Given the description of an element on the screen output the (x, y) to click on. 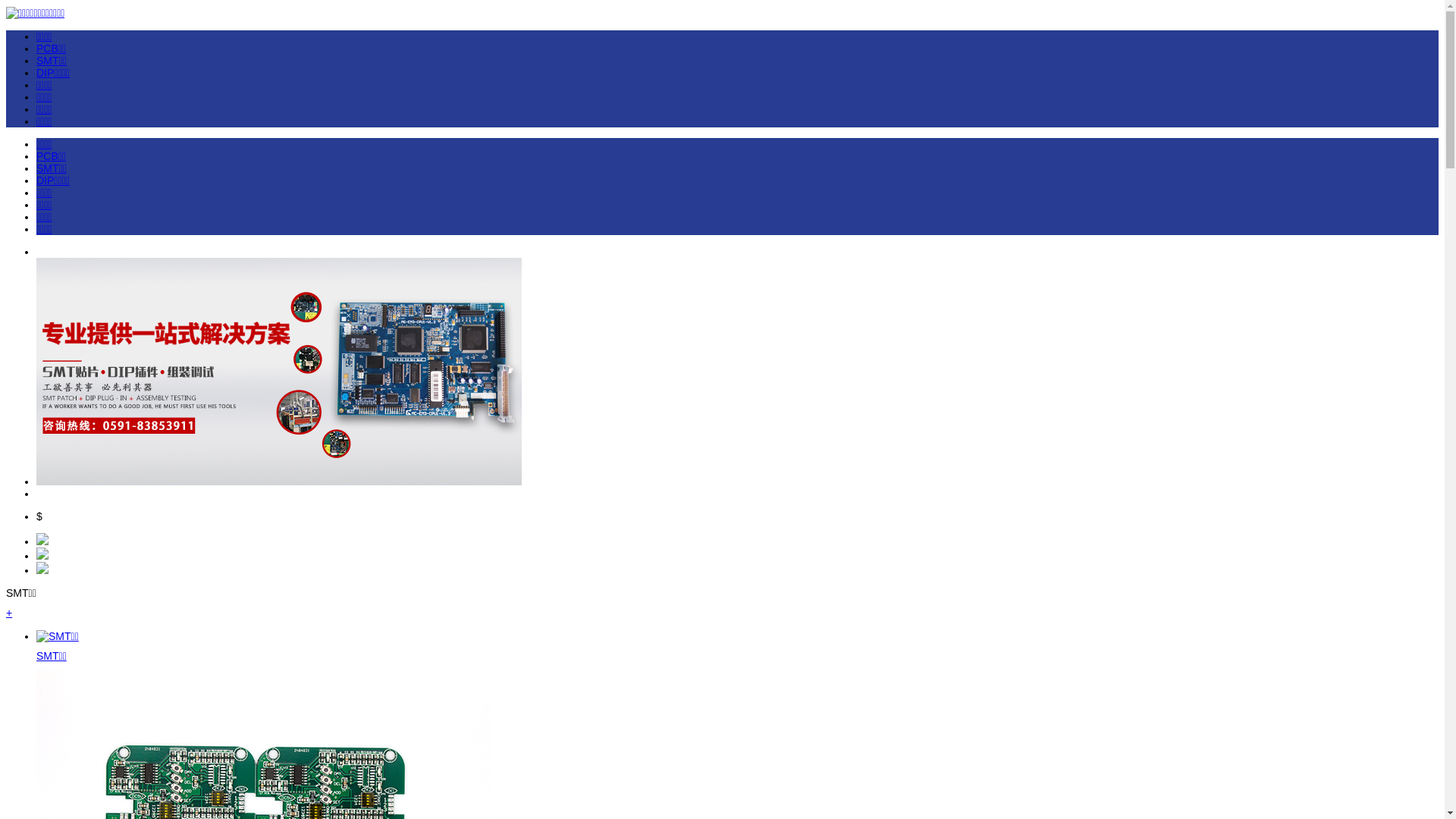
+ Element type: text (9, 612)
